Given the description of an element on the screen output the (x, y) to click on. 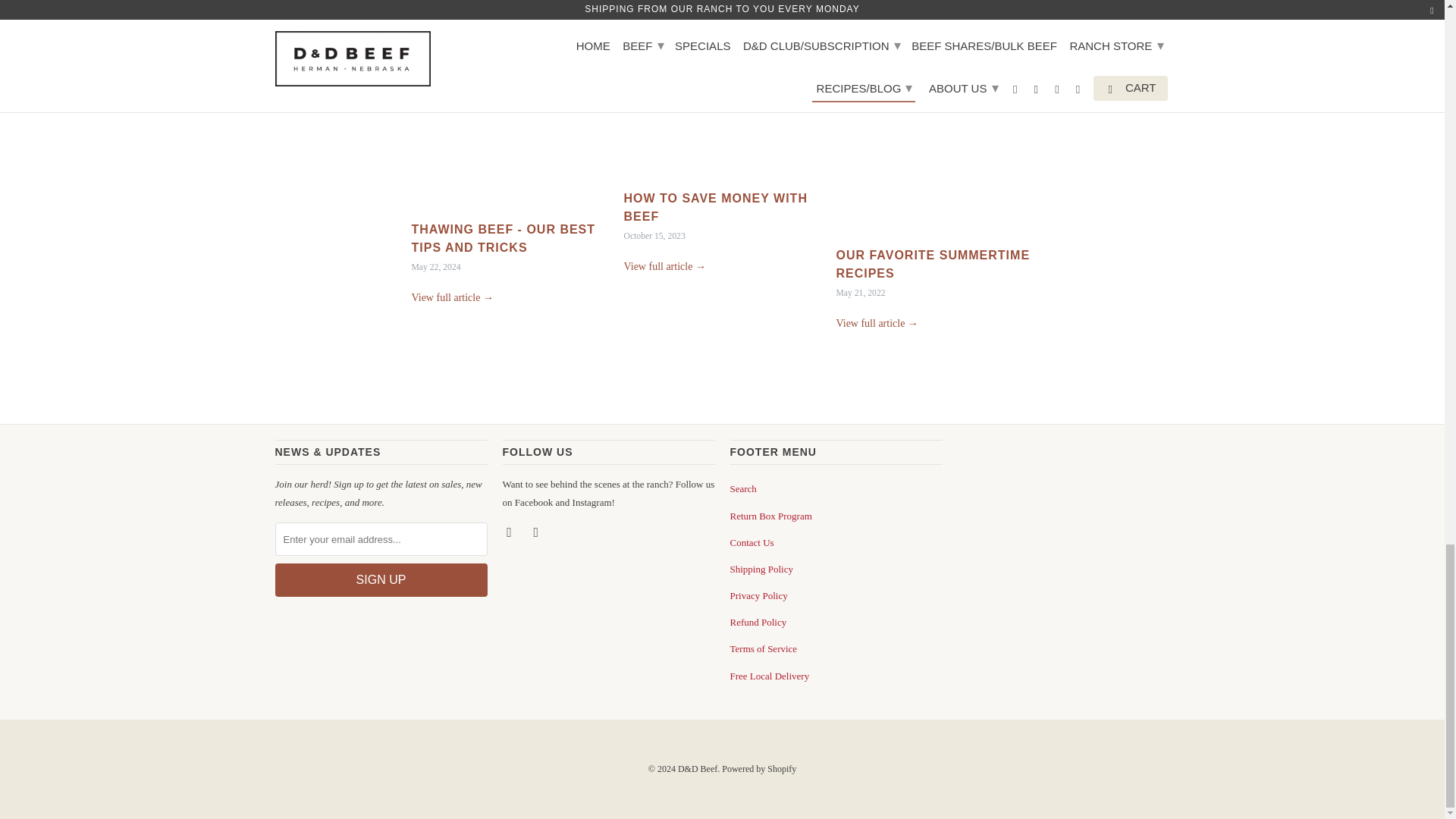
How To Save Money With Beef (714, 206)
How To Save Money With Beef (722, 102)
Our Favorite Summertime Recipes (932, 264)
Our Favorite Summertime Recipes (876, 323)
Thawing Beef - Our Best Tips and Tricks (502, 237)
Thawing Beef - Our Best Tips and Tricks (451, 297)
How To Save Money With Beef (663, 266)
Sign Up (380, 580)
Thawing Beef - Our Best Tips and Tricks (509, 117)
